Given the description of an element on the screen output the (x, y) to click on. 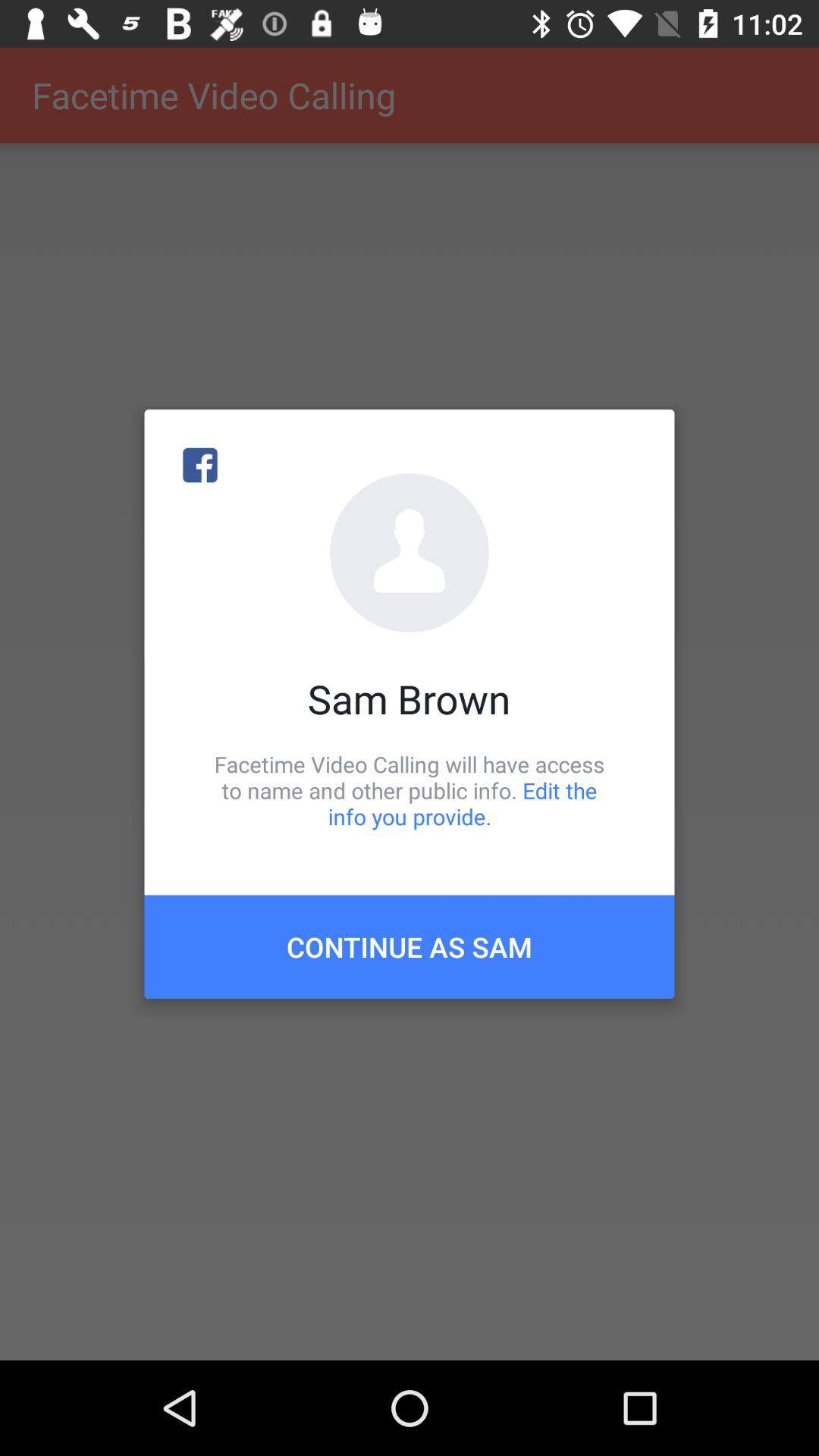
swipe until the continue as sam item (409, 946)
